Given the description of an element on the screen output the (x, y) to click on. 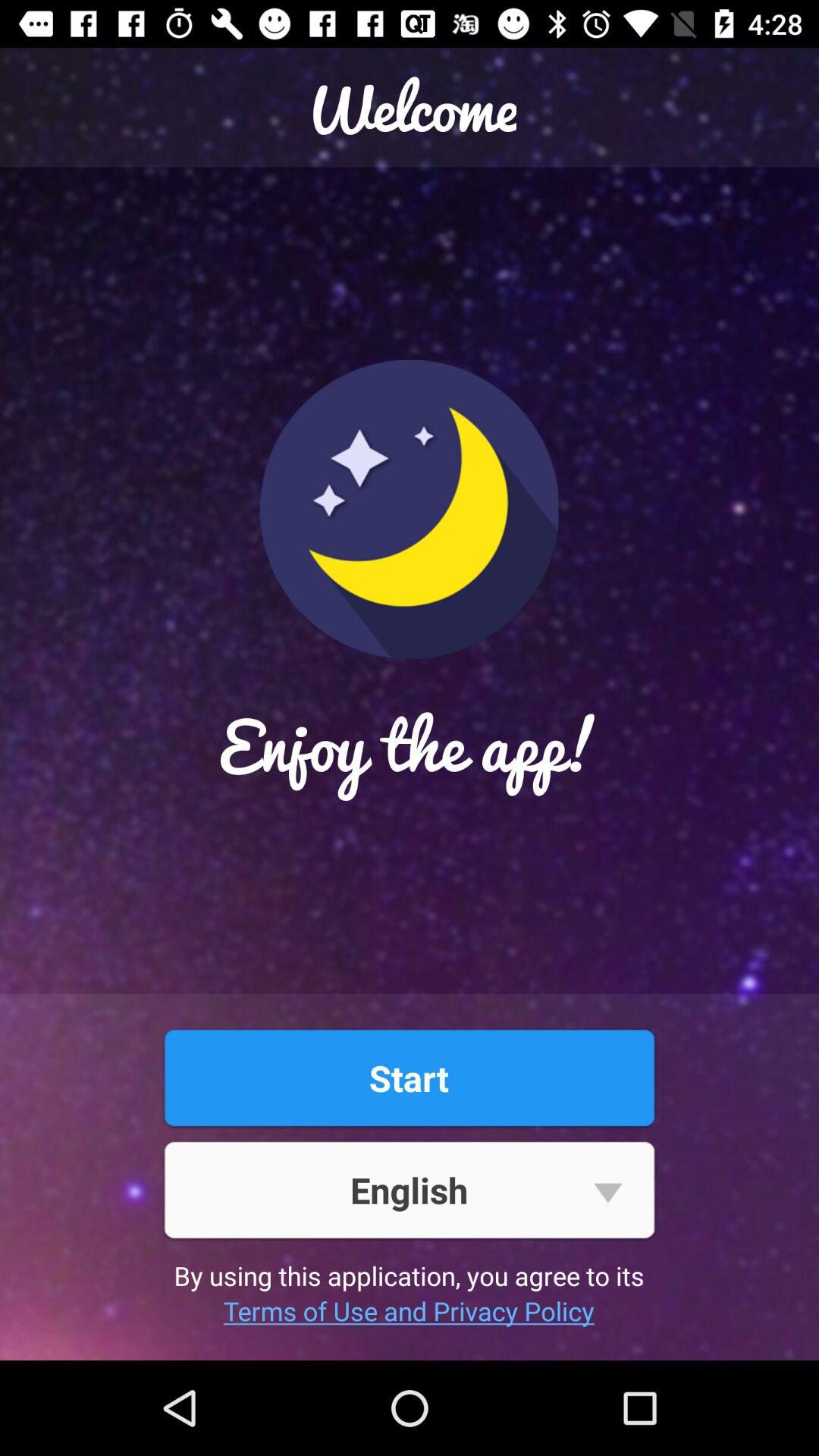
launch the item below the enjoy the app! item (409, 1078)
